Given the description of an element on the screen output the (x, y) to click on. 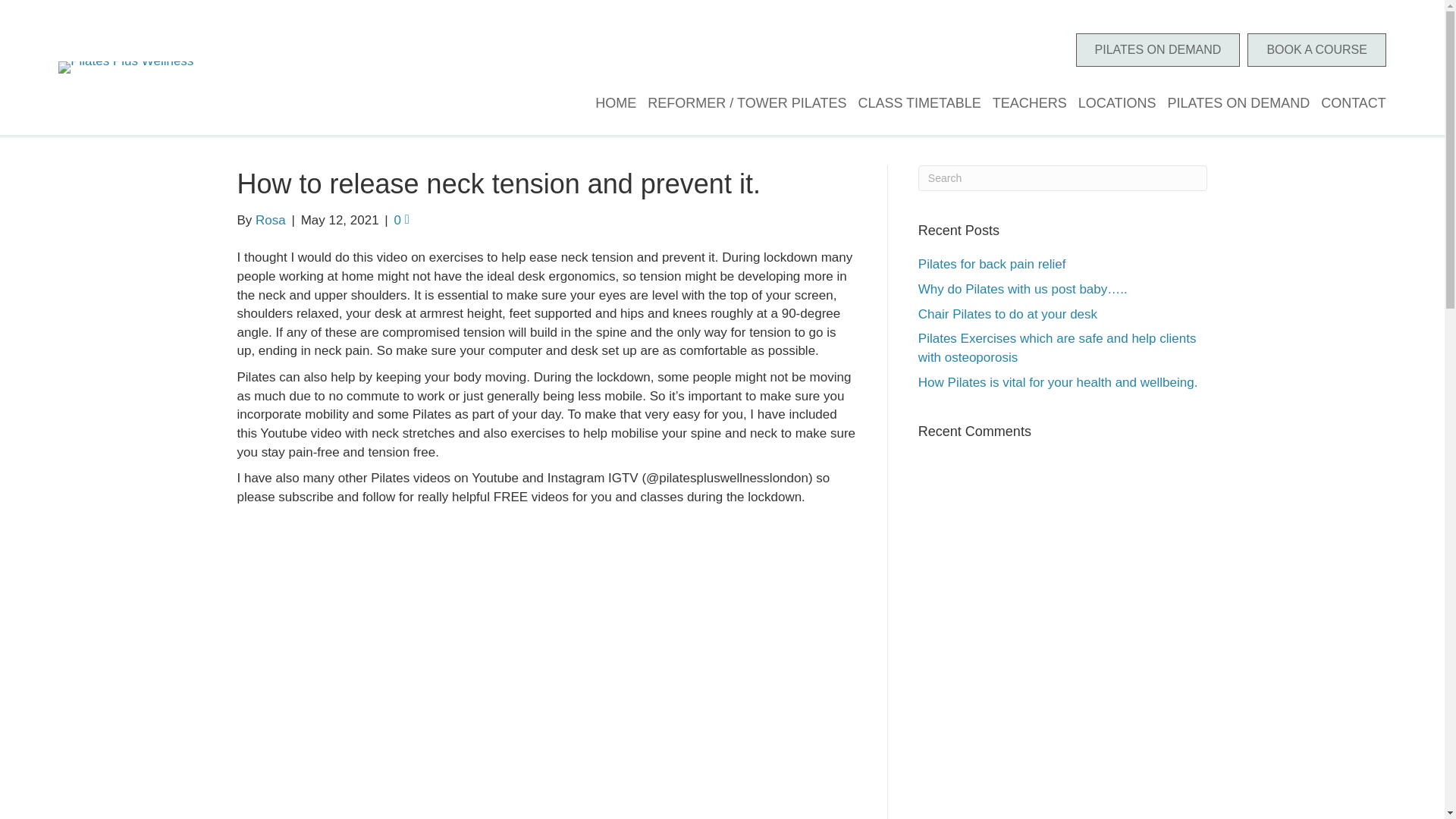
CLASS TIMETABLE (912, 102)
pilates-plus-wellness (125, 67)
PILATES ON DEMAND (1232, 102)
BOOK A COURSE (1316, 49)
CONTACT (1347, 102)
PILATES ON DEMAND (1157, 49)
Type and press Enter to search. (1063, 177)
LOCATIONS (1111, 102)
HOME (609, 102)
